Given the description of an element on the screen output the (x, y) to click on. 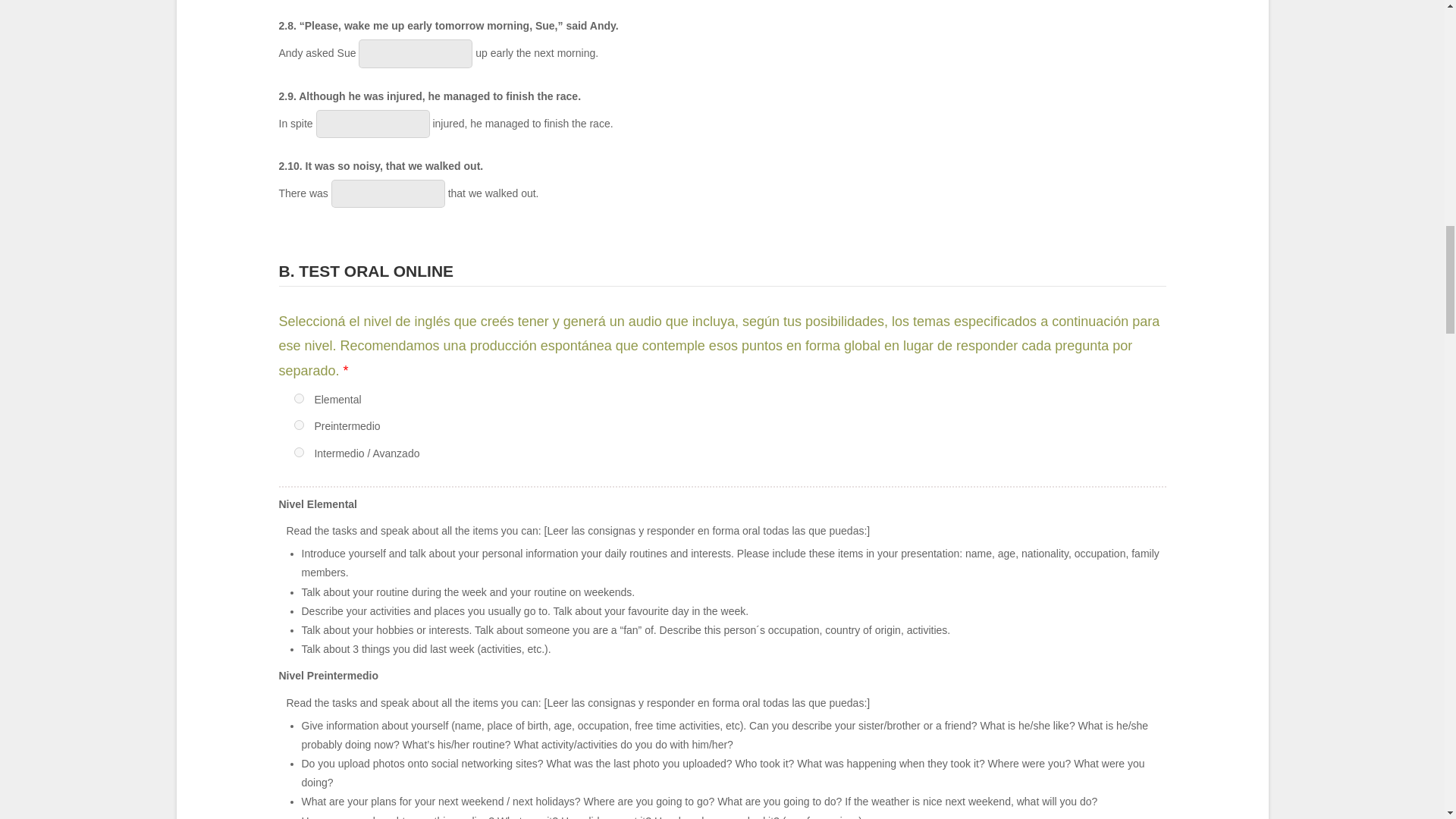
3 (299, 452)
1 (299, 398)
2 (299, 424)
